Given the description of an element on the screen output the (x, y) to click on. 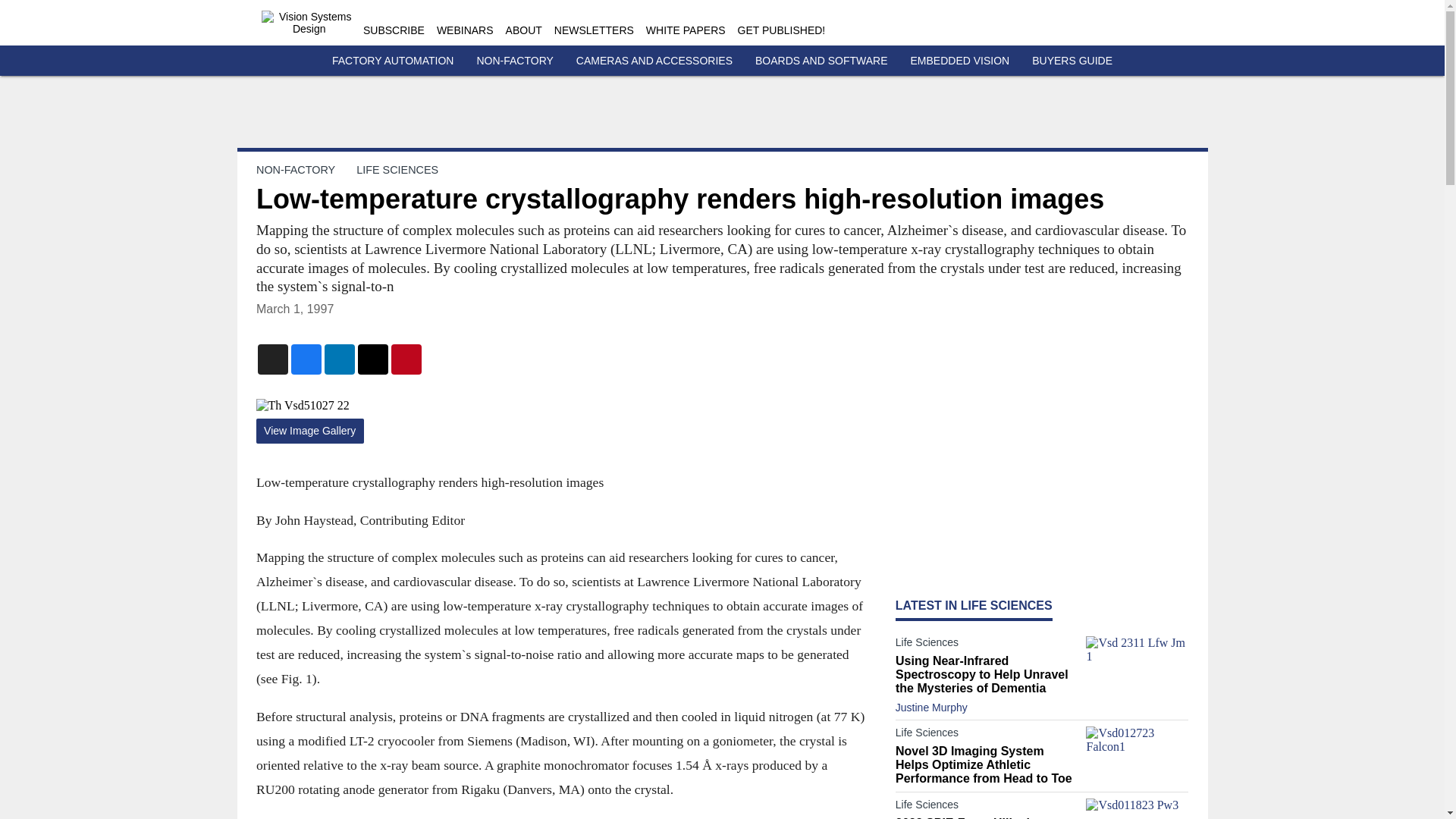
Vsd011823 Pw3 (1137, 808)
Life Sciences (986, 645)
GET PUBLISHED! (781, 30)
Justine Murphy (931, 707)
Th Vsd51027 22 (560, 405)
Life Sciences (986, 735)
CAMERAS AND ACCESSORIES (654, 60)
NEWSLETTERS (593, 30)
LIFE SCIENCES (397, 169)
